Given the description of an element on the screen output the (x, y) to click on. 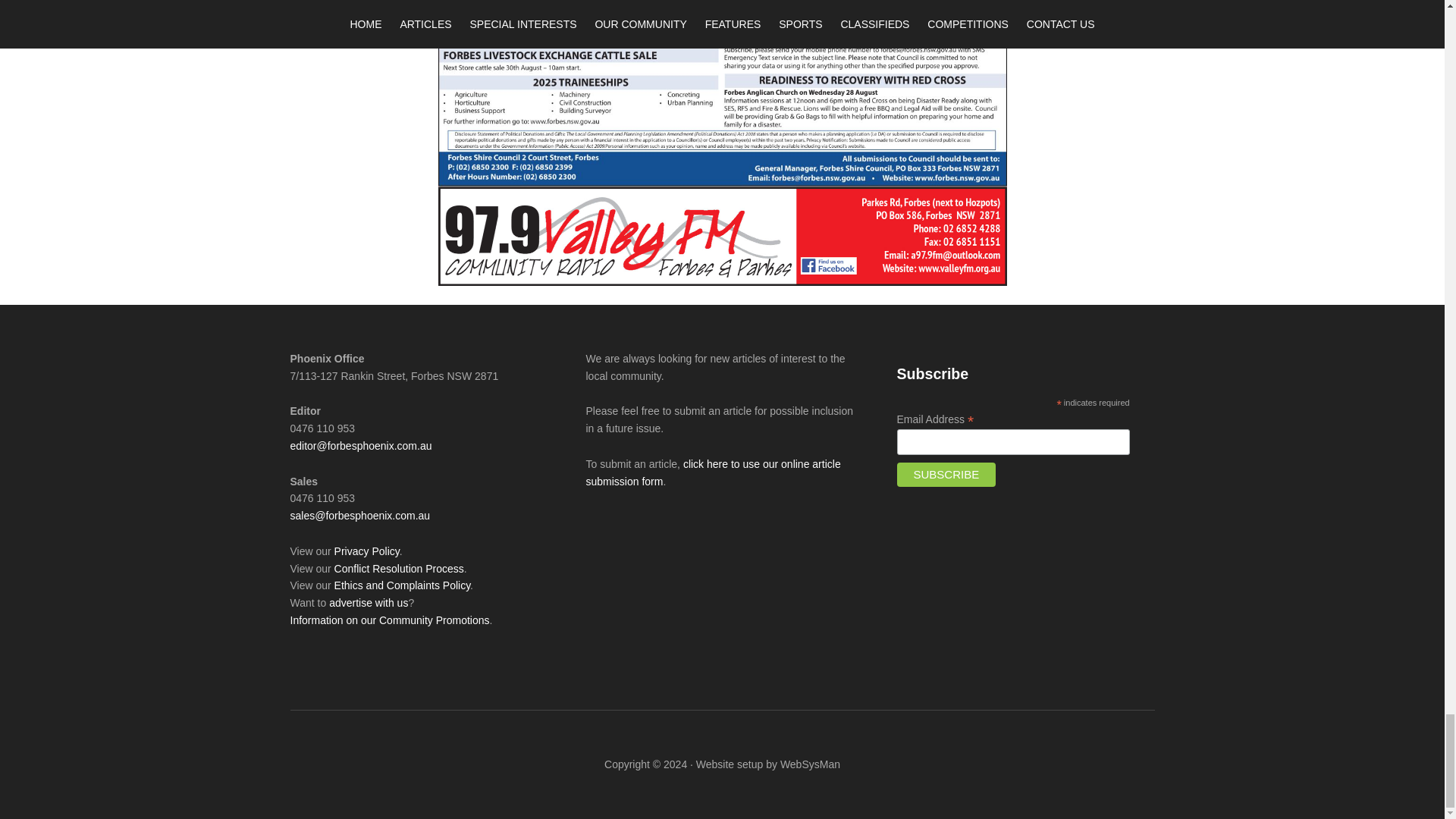
Advertise with Us (368, 603)
Conflict Resolution Process (399, 568)
Ethics and Complaints Policy (402, 585)
Submit an Article (712, 472)
Privacy Policy (366, 551)
Subscribe (945, 474)
